Given the description of an element on the screen output the (x, y) to click on. 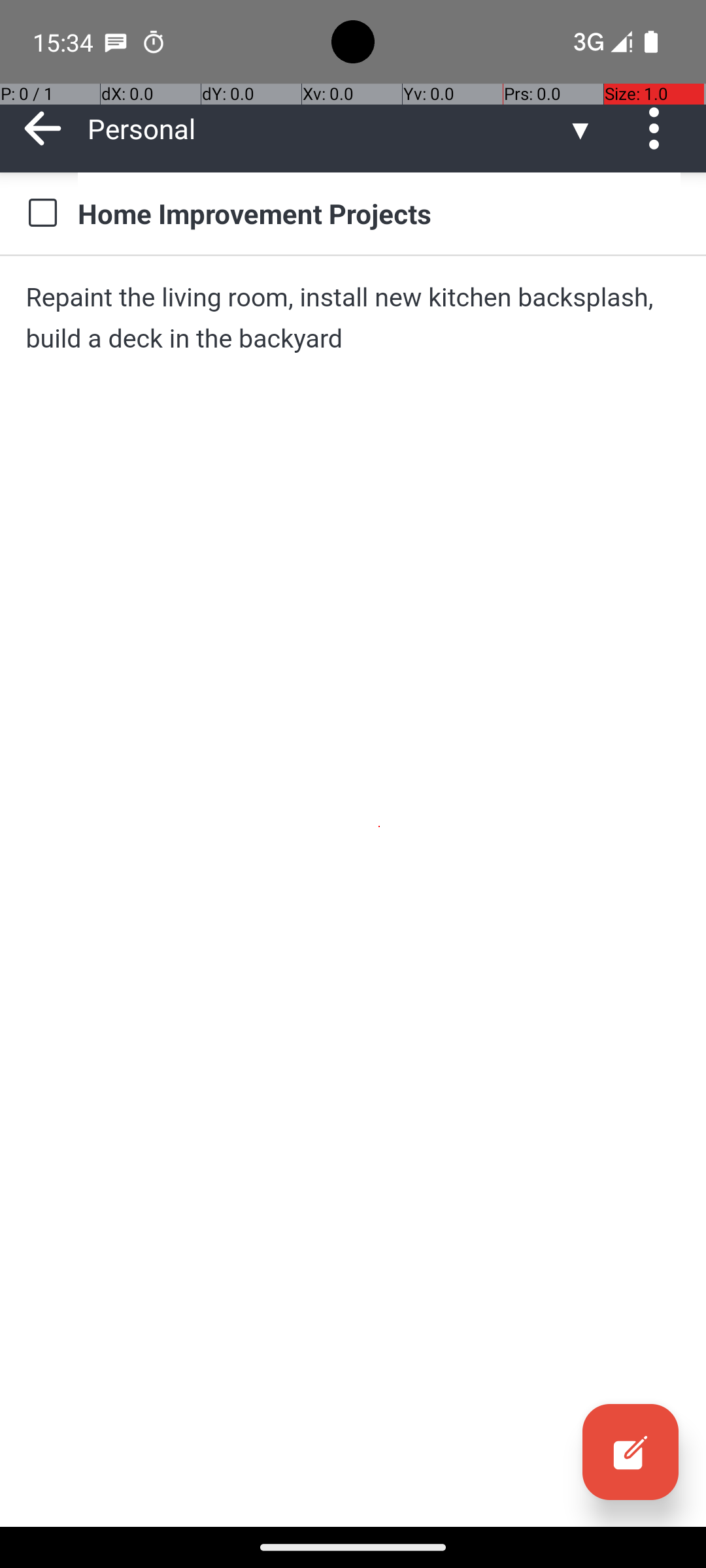
Home Improvement Projects Element type: android.widget.EditText (378, 213)
Repaint the living room, install new kitchen backsplash, build a deck in the backyard Element type: android.widget.TextView (352, 317)
